Given the description of an element on the screen output the (x, y) to click on. 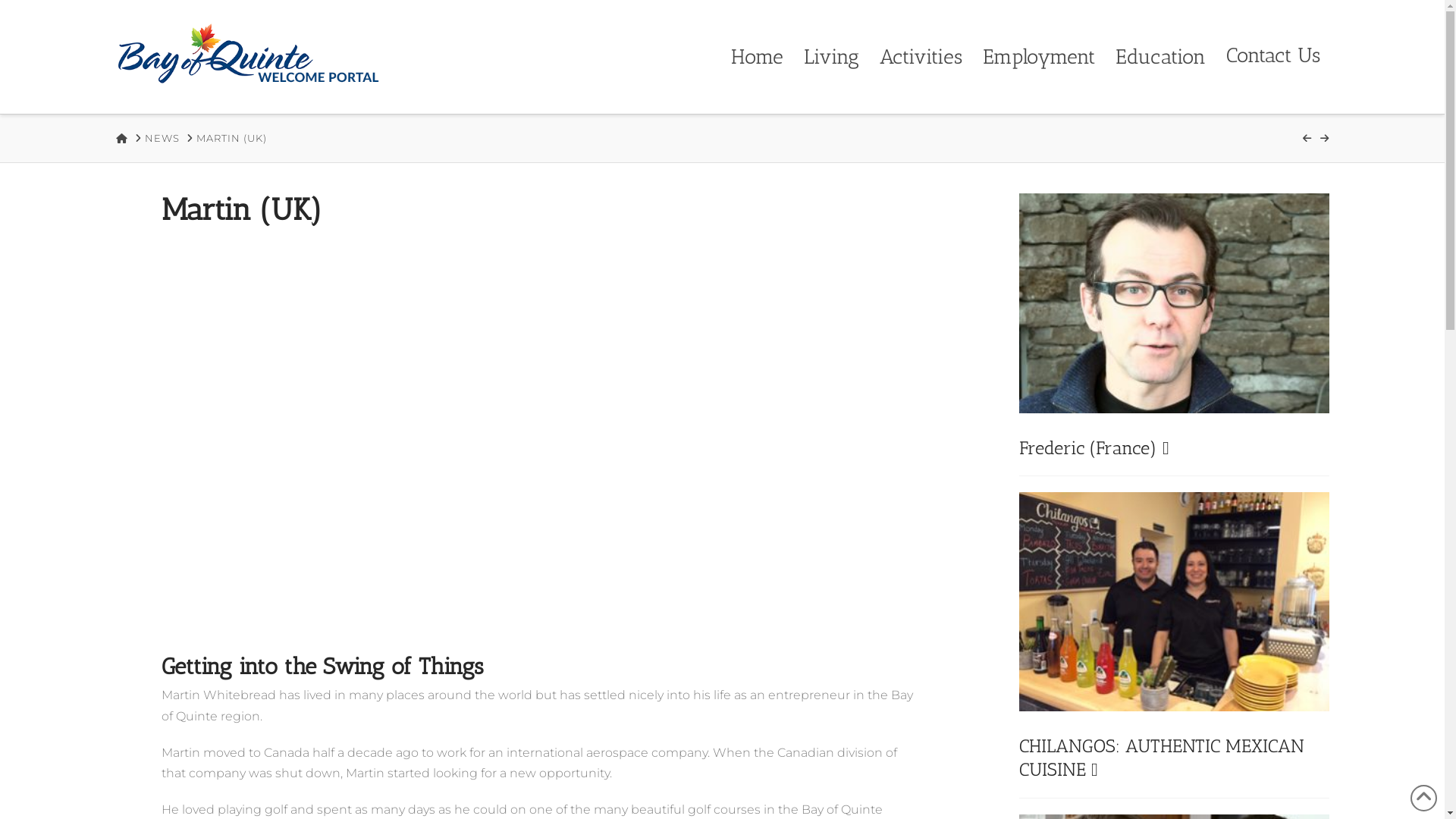
Employment Element type: text (1036, 56)
CHILANGOS: AUTHENTIC MEXICAN CUISINE Element type: text (1161, 757)
Back to Top Element type: hover (1423, 797)
NEWS Element type: text (161, 137)
Home Element type: text (754, 56)
Contact Us Element type: text (1271, 56)
Activities Element type: text (918, 56)
Education Element type: text (1158, 56)
Living Element type: text (829, 56)
HOME Element type: text (121, 138)
MARTIN (UK) Element type: text (231, 137)
Frederic (France) Element type: text (1094, 447)
